Given the description of an element on the screen output the (x, y) to click on. 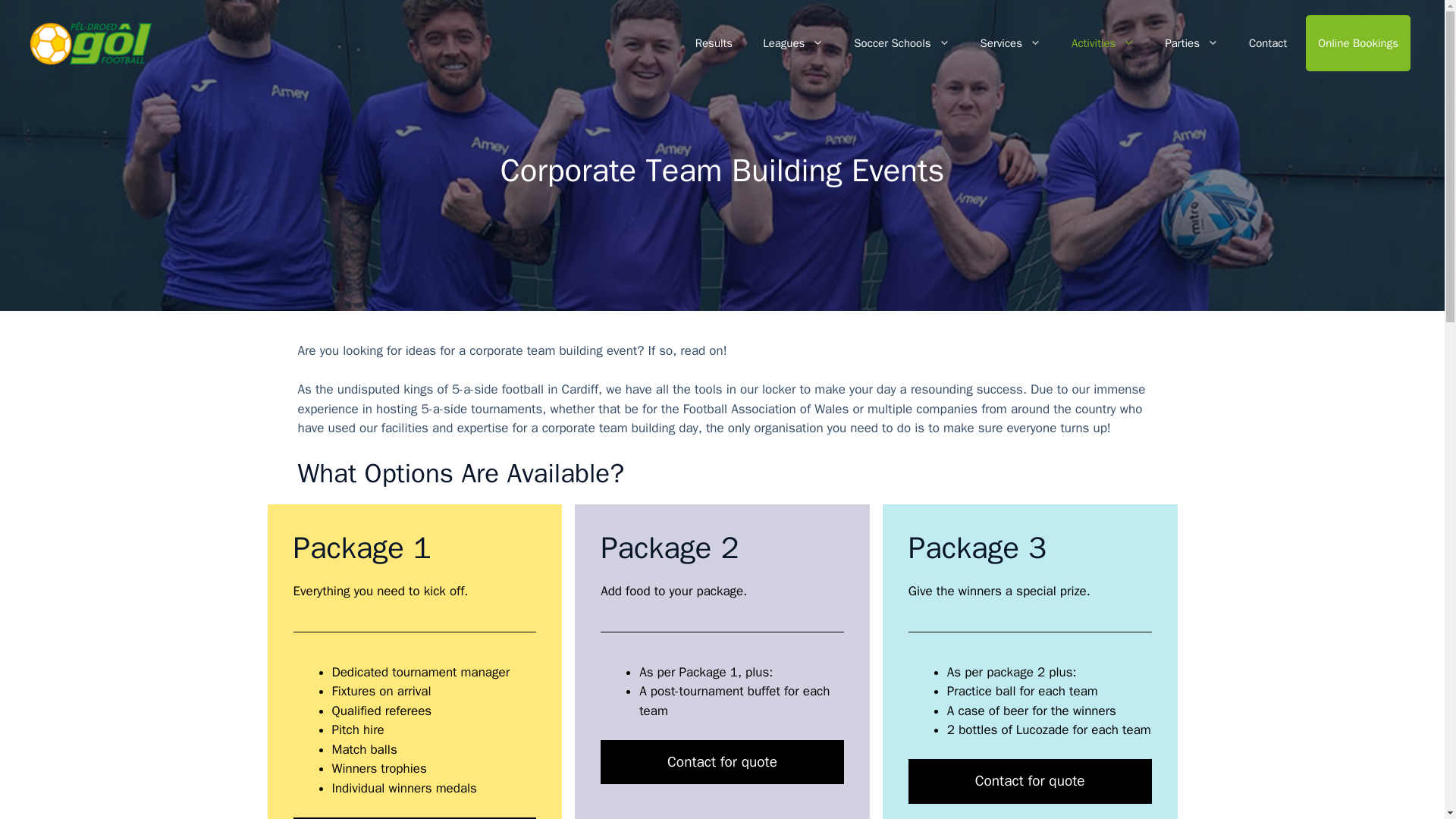
Services (1011, 43)
Leagues (793, 43)
Activities (1103, 43)
Parties (1191, 43)
Online Bookings (1358, 43)
Soccer Schools (900, 43)
Results (713, 43)
Contact (1267, 43)
